Given the description of an element on the screen output the (x, y) to click on. 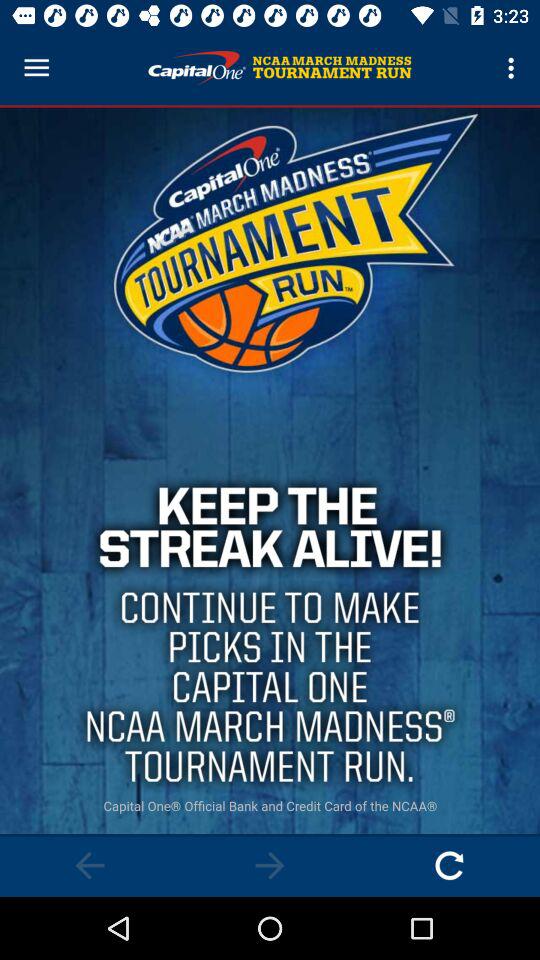
go to next page (269, 865)
